Given the description of an element on the screen output the (x, y) to click on. 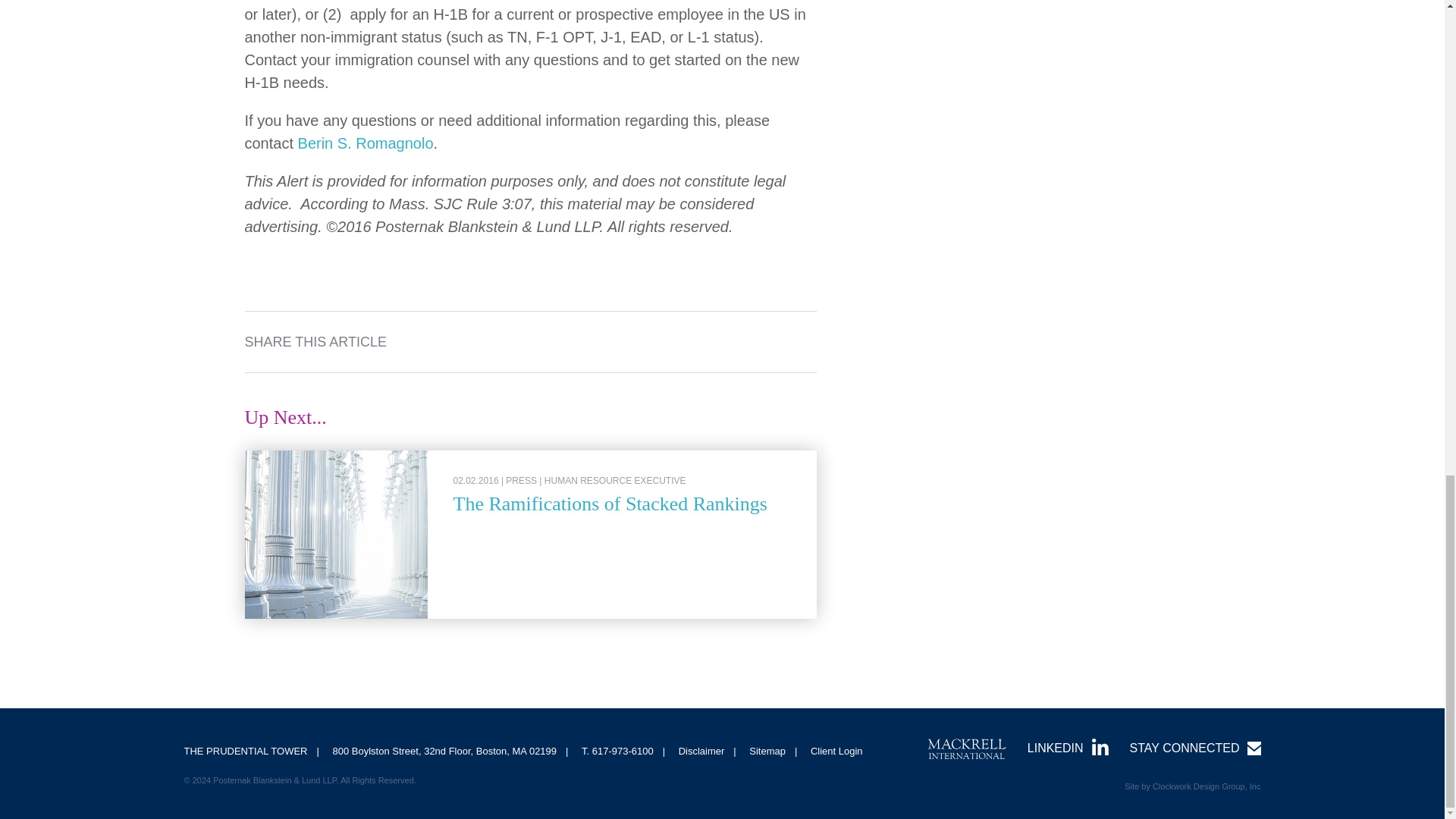
800 Boylston Street, 32nd Floor, Boston, MA 02199 (443, 750)
Site by Clockwork Design Group, Inc (1192, 785)
The Ramifications of Stacked Rankings (609, 504)
Sitemap (767, 750)
Disclaimer (701, 750)
LINKEDIN (1067, 748)
PRESS (521, 480)
T. 617-973-6100 (616, 750)
Client Login (836, 750)
Berin S. Romagnolo (365, 143)
